Given the description of an element on the screen output the (x, y) to click on. 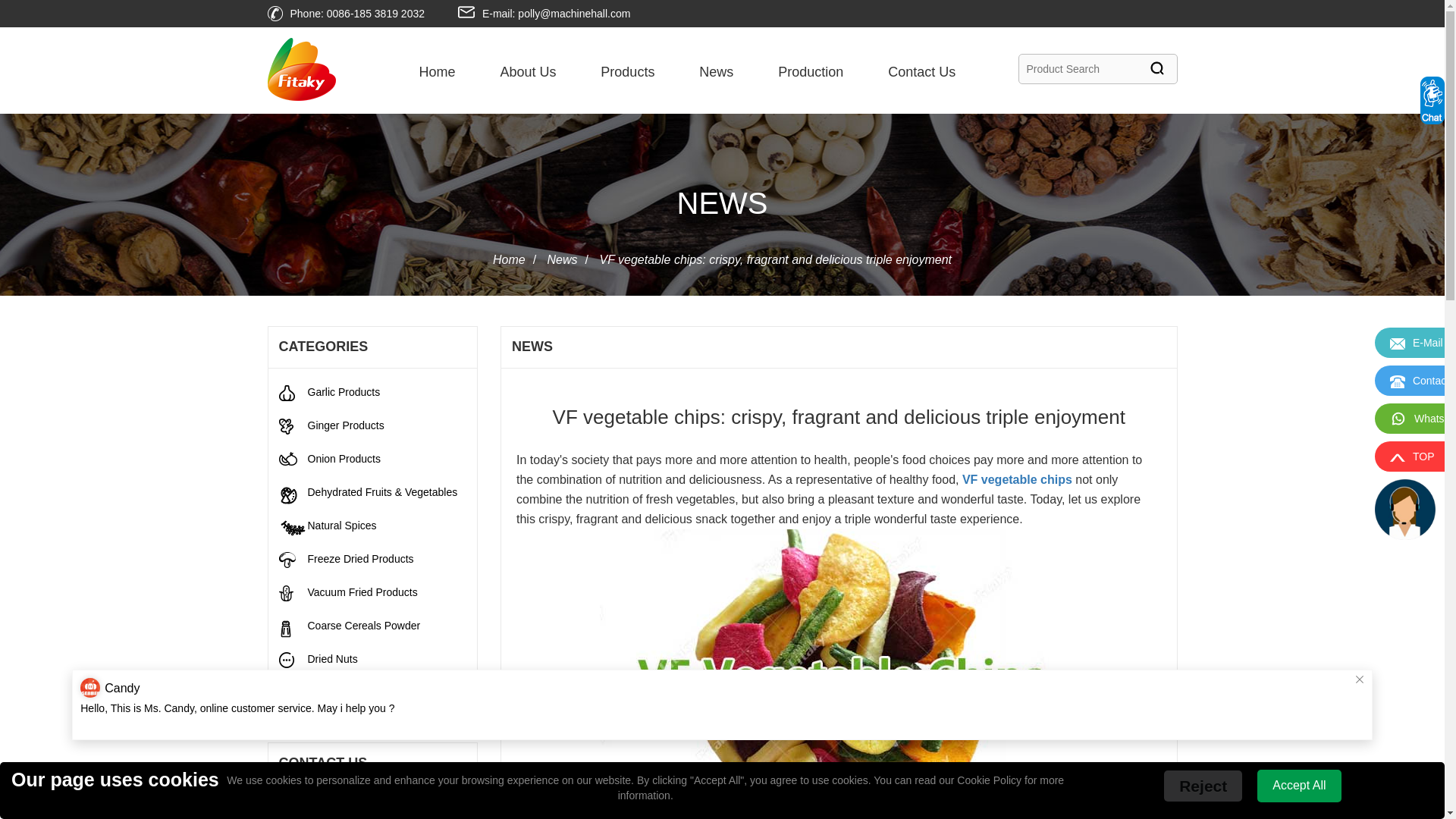
News (562, 259)
Home (509, 259)
Products (626, 71)
About Us (527, 71)
Production (810, 71)
Contact Us (921, 71)
Production (810, 71)
Contact Us (921, 71)
Products (626, 71)
News (715, 71)
Home (436, 71)
Phone: 0086-185 3819 2032 (357, 13)
Home (436, 71)
News (715, 71)
About Us (527, 71)
